Given the description of an element on the screen output the (x, y) to click on. 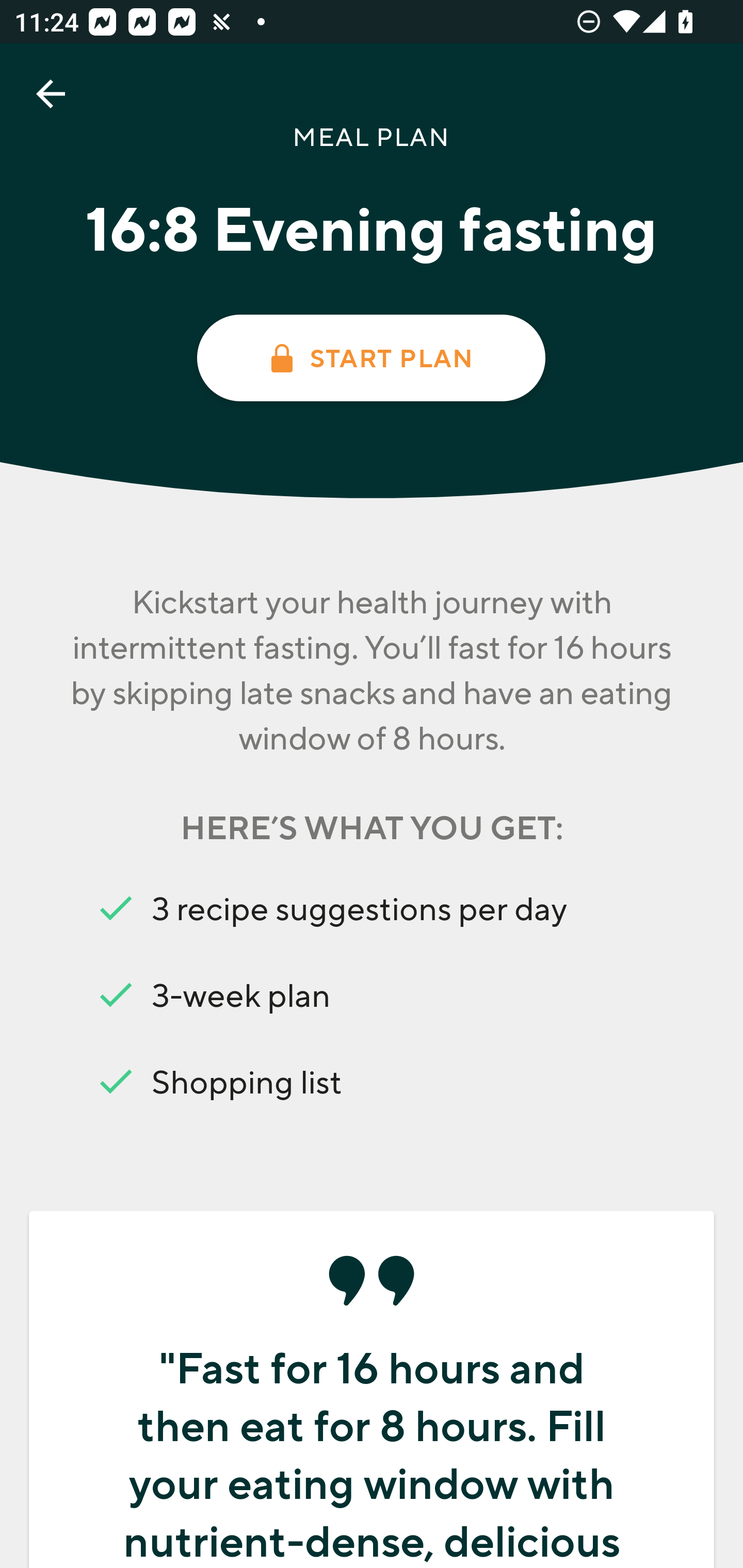
Navigate up (50, 93)
START PLAN (370, 358)
